Given the description of an element on the screen output the (x, y) to click on. 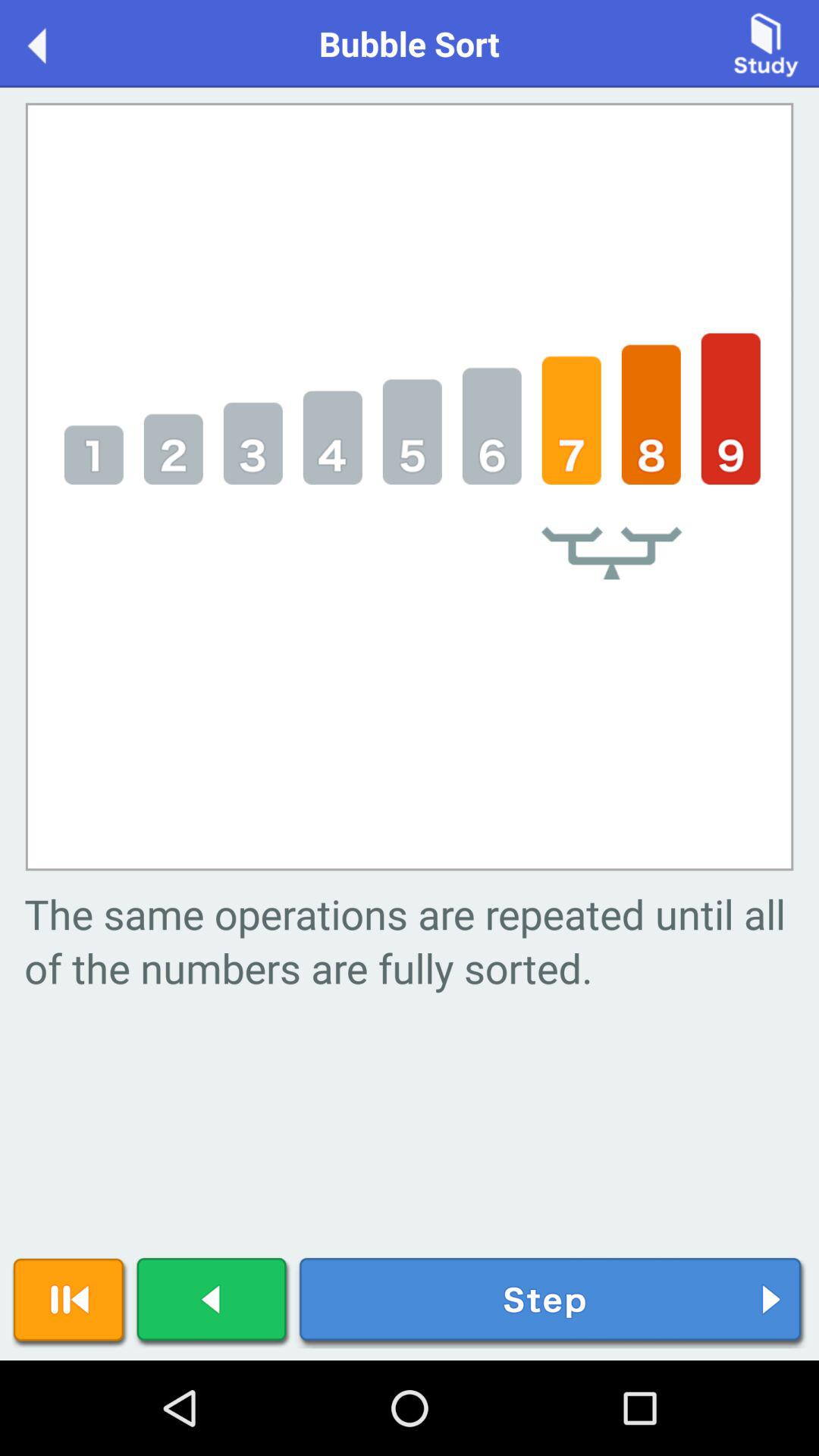
turn off item next to the bubble sort item (766, 42)
